Given the description of an element on the screen output the (x, y) to click on. 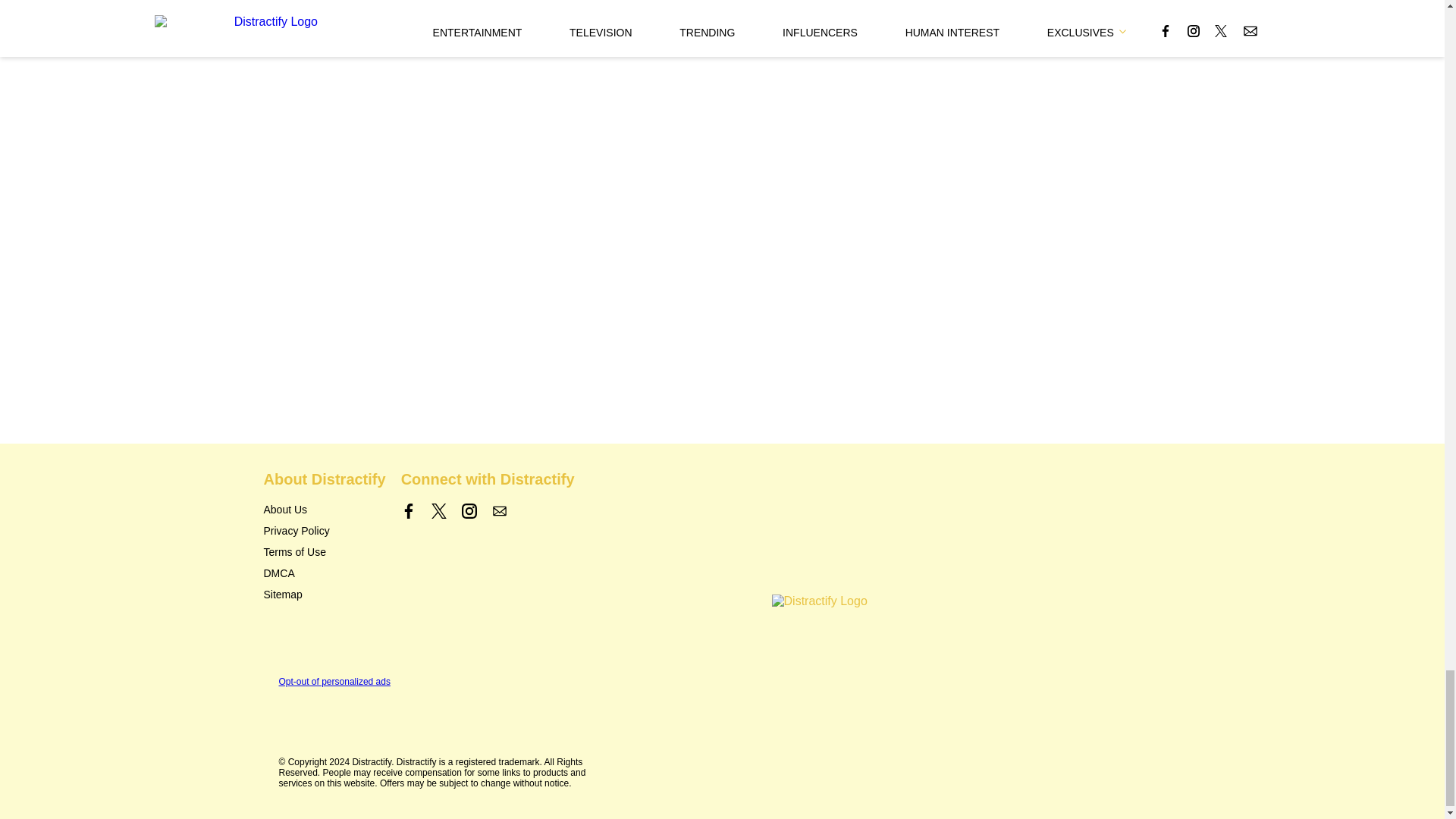
About Us (285, 509)
Terms of Use (294, 551)
DMCA (279, 573)
Sitemap (282, 594)
Link to Instagram (469, 510)
Contact us by Email (499, 510)
About Us (285, 509)
Link to X (438, 510)
Privacy Policy (296, 530)
Privacy Policy (296, 530)
Terms of Use (294, 551)
Link to Facebook (408, 510)
